Given the description of an element on the screen output the (x, y) to click on. 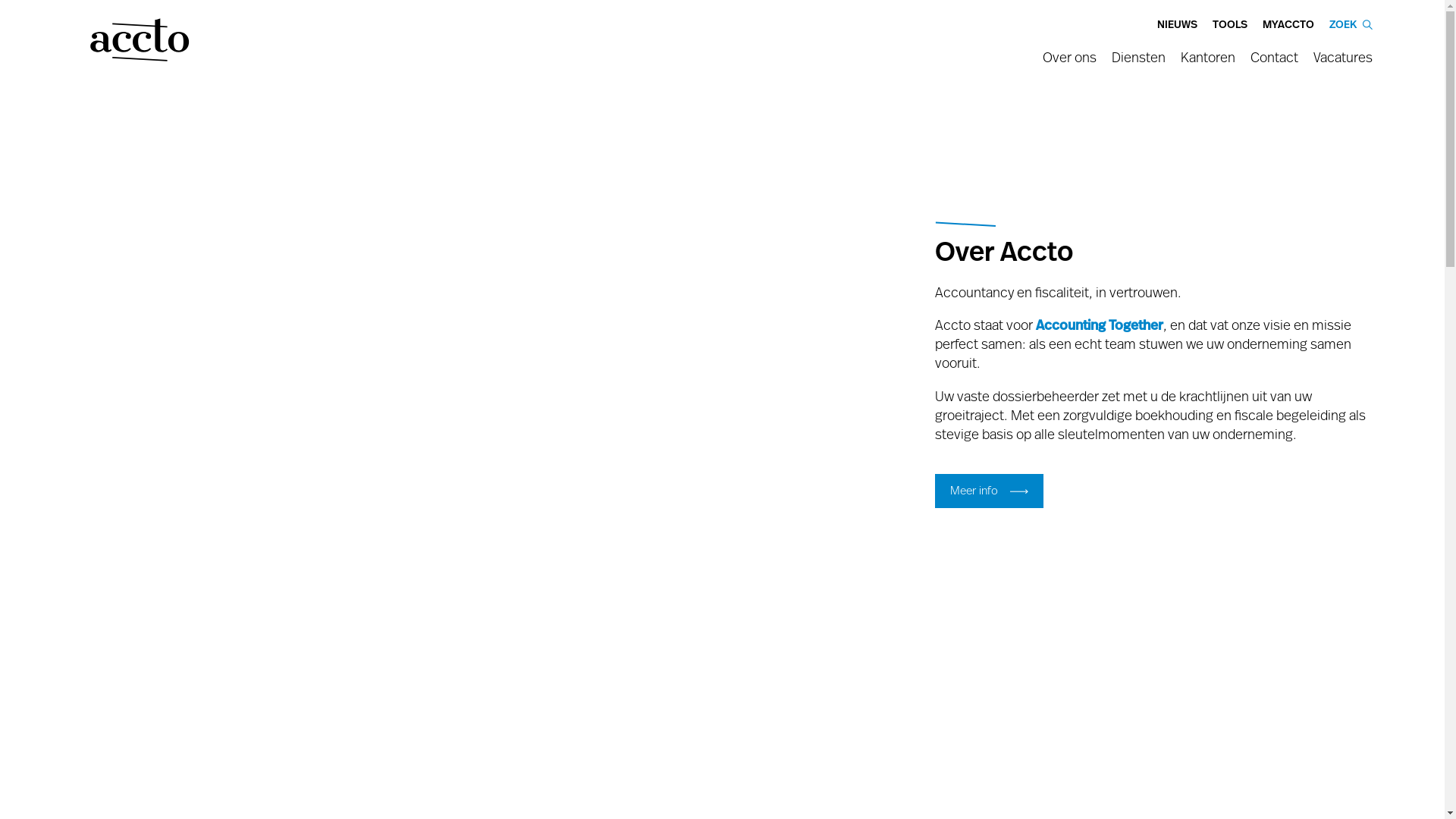
Meer info Element type: text (989, 490)
Vacatures Element type: text (1342, 62)
ZOEK Element type: text (1350, 20)
NIEUWS Element type: text (1177, 20)
Diensten Element type: text (1138, 62)
Contact Element type: text (1274, 62)
Kantoren Element type: text (1207, 62)
MYACCTO Element type: text (1288, 20)
TOOLS Element type: text (1229, 20)
Over ons Element type: text (1069, 62)
